Given the description of an element on the screen output the (x, y) to click on. 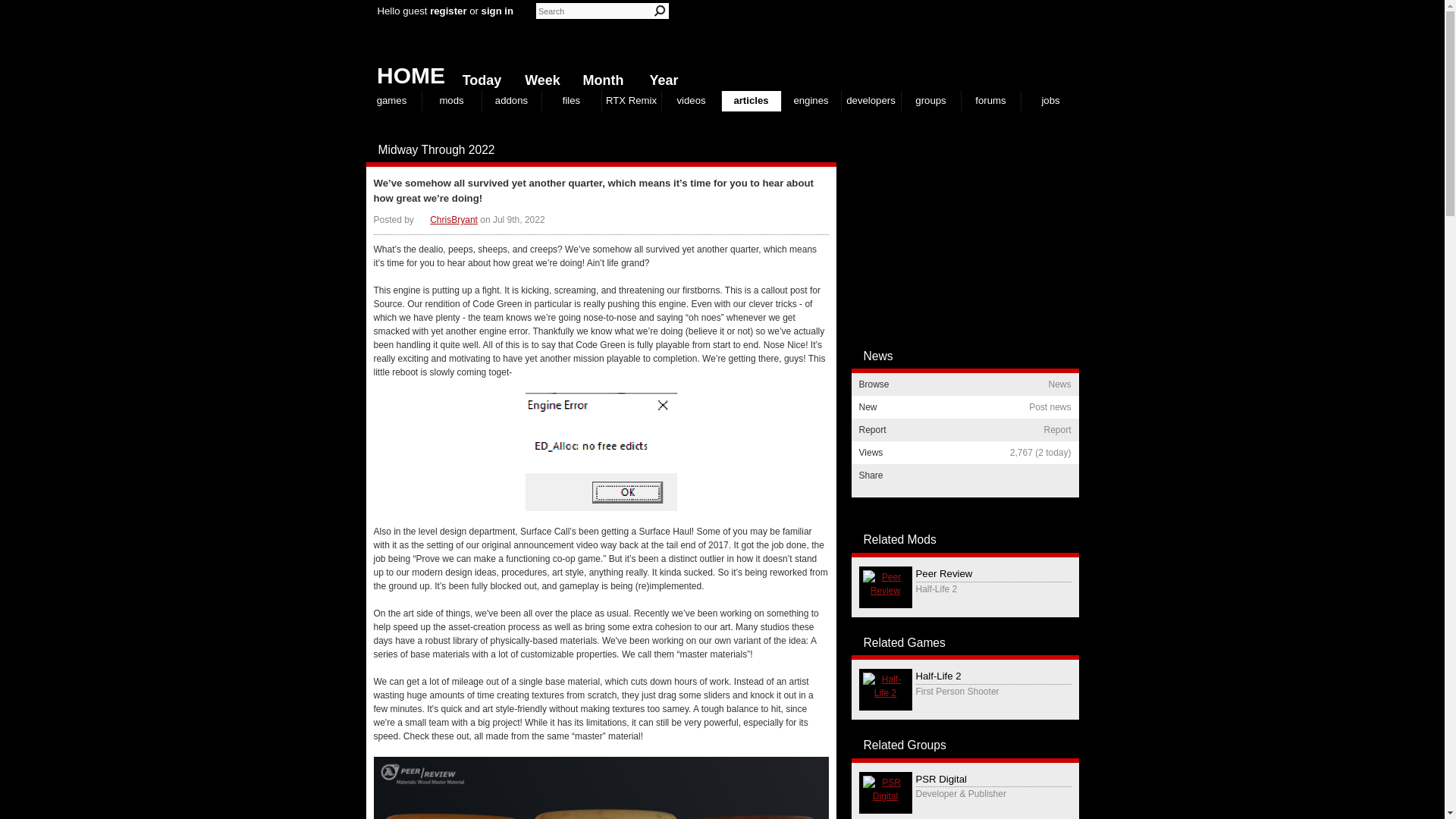
New this month (599, 76)
videos (690, 100)
HOME (405, 71)
Search ModDB (660, 10)
files (570, 100)
Report (813, 150)
sign in (497, 10)
ModDB Home (965, 45)
Month (599, 76)
New today (478, 76)
Post news (797, 150)
addons (511, 100)
games (392, 100)
Year (660, 76)
Article Manager (446, 219)
